Given the description of an element on the screen output the (x, y) to click on. 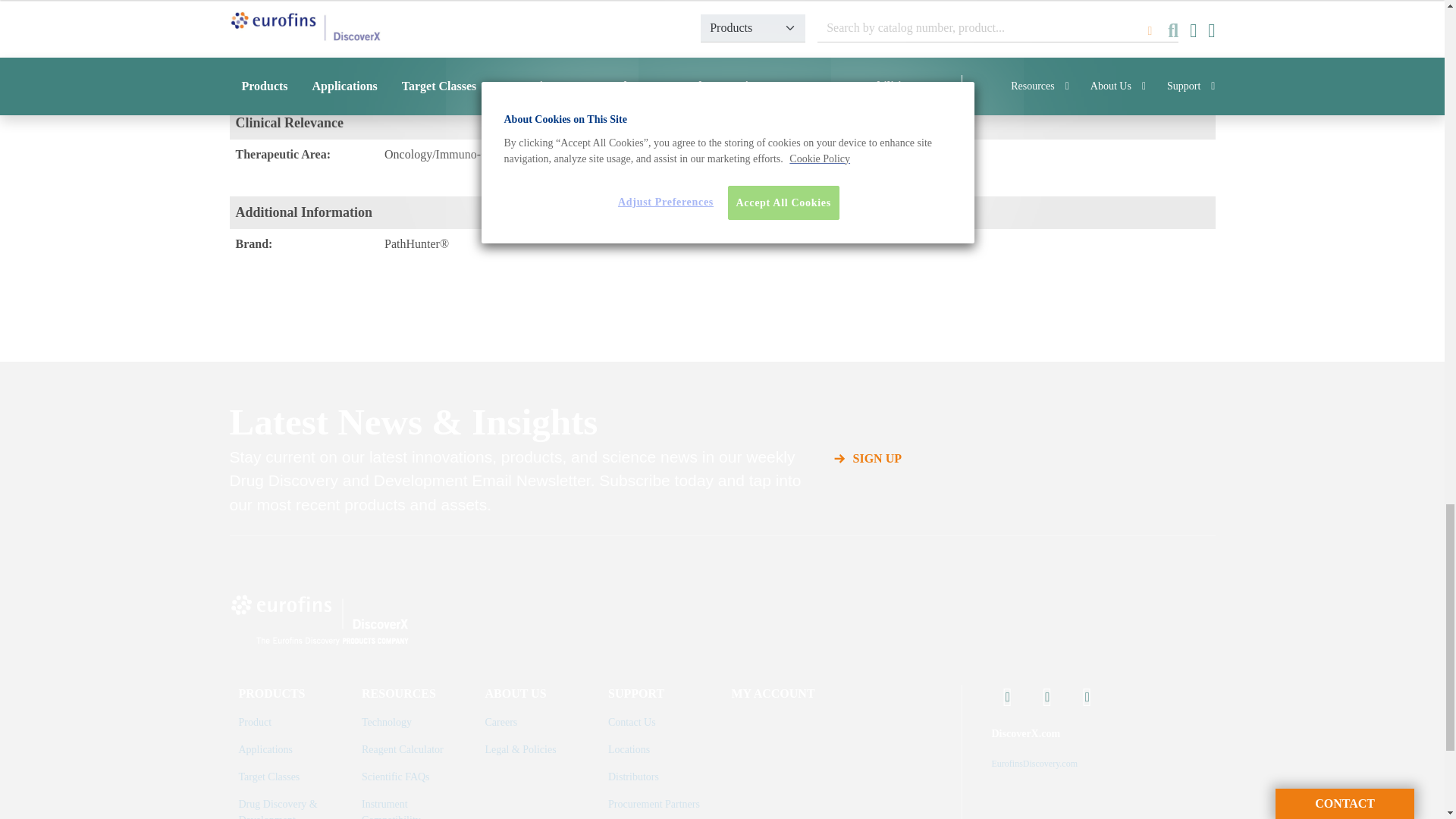
Youtube (1008, 697)
LinkedIn (1047, 697)
Blog (1086, 697)
